Given the description of an element on the screen output the (x, y) to click on. 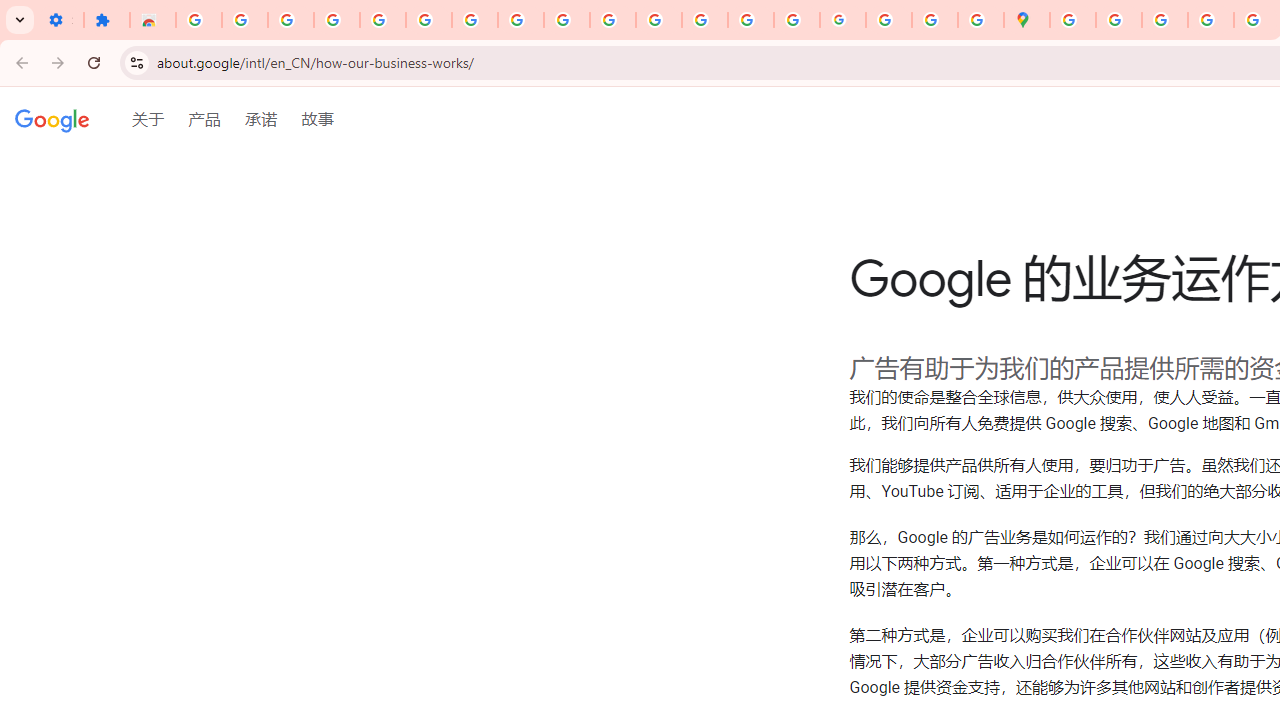
Google Account (520, 20)
Extensions (107, 20)
Reviews: Helix Fruit Jump Arcade Game (153, 20)
Settings - On startup (60, 20)
Google (52, 121)
Sign in - Google Accounts (198, 20)
Sign in - Google Accounts (428, 20)
